Given the description of an element on the screen output the (x, y) to click on. 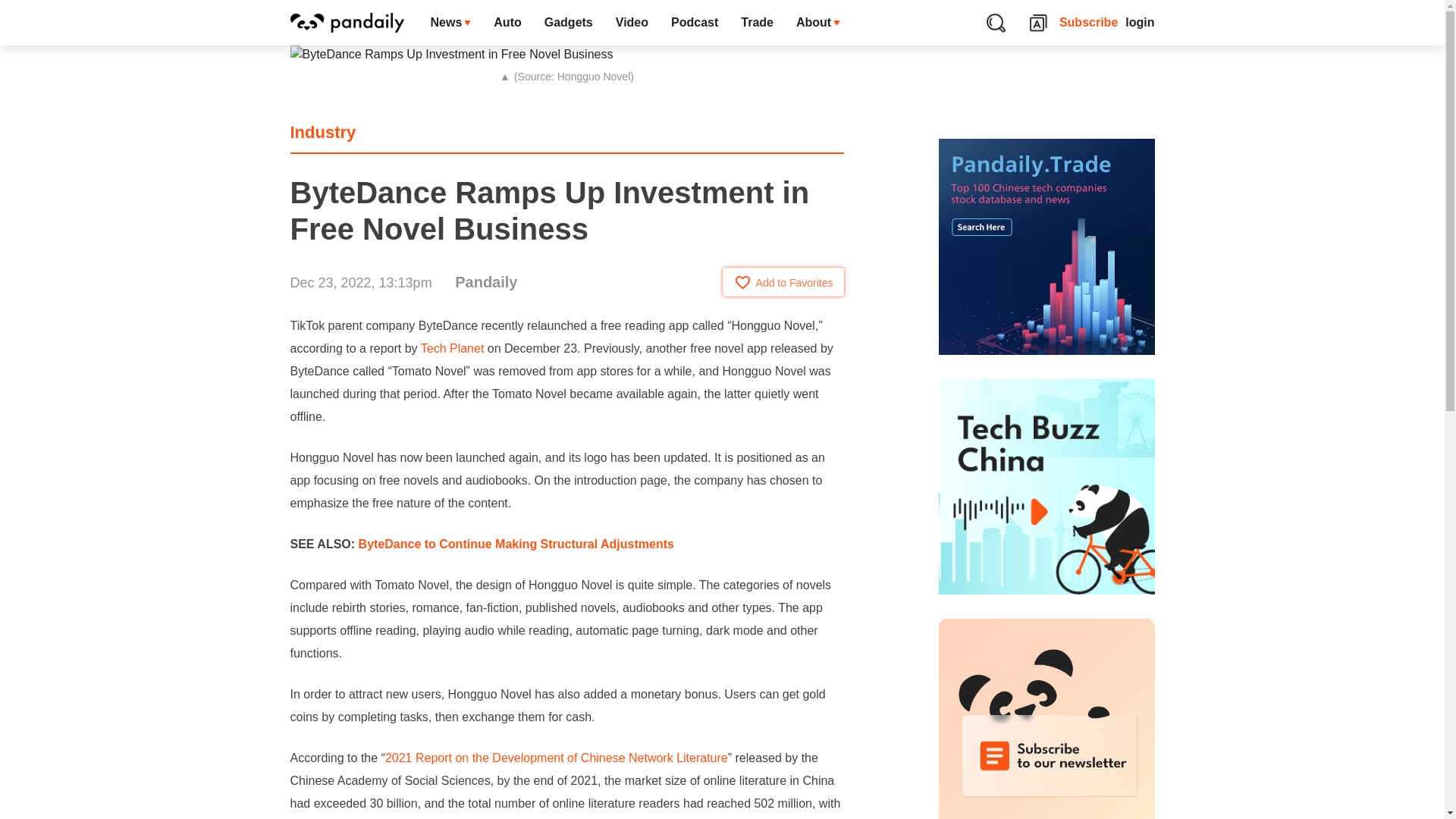
Video (631, 22)
Trade (756, 22)
Pandaily (485, 281)
ByteDance to Continue Making Structural Adjustments (516, 543)
About (817, 22)
Industry (322, 131)
Gadgets (568, 22)
Auto (506, 22)
Add to Favorites (783, 281)
Podcast (694, 22)
